Given the description of an element on the screen output the (x, y) to click on. 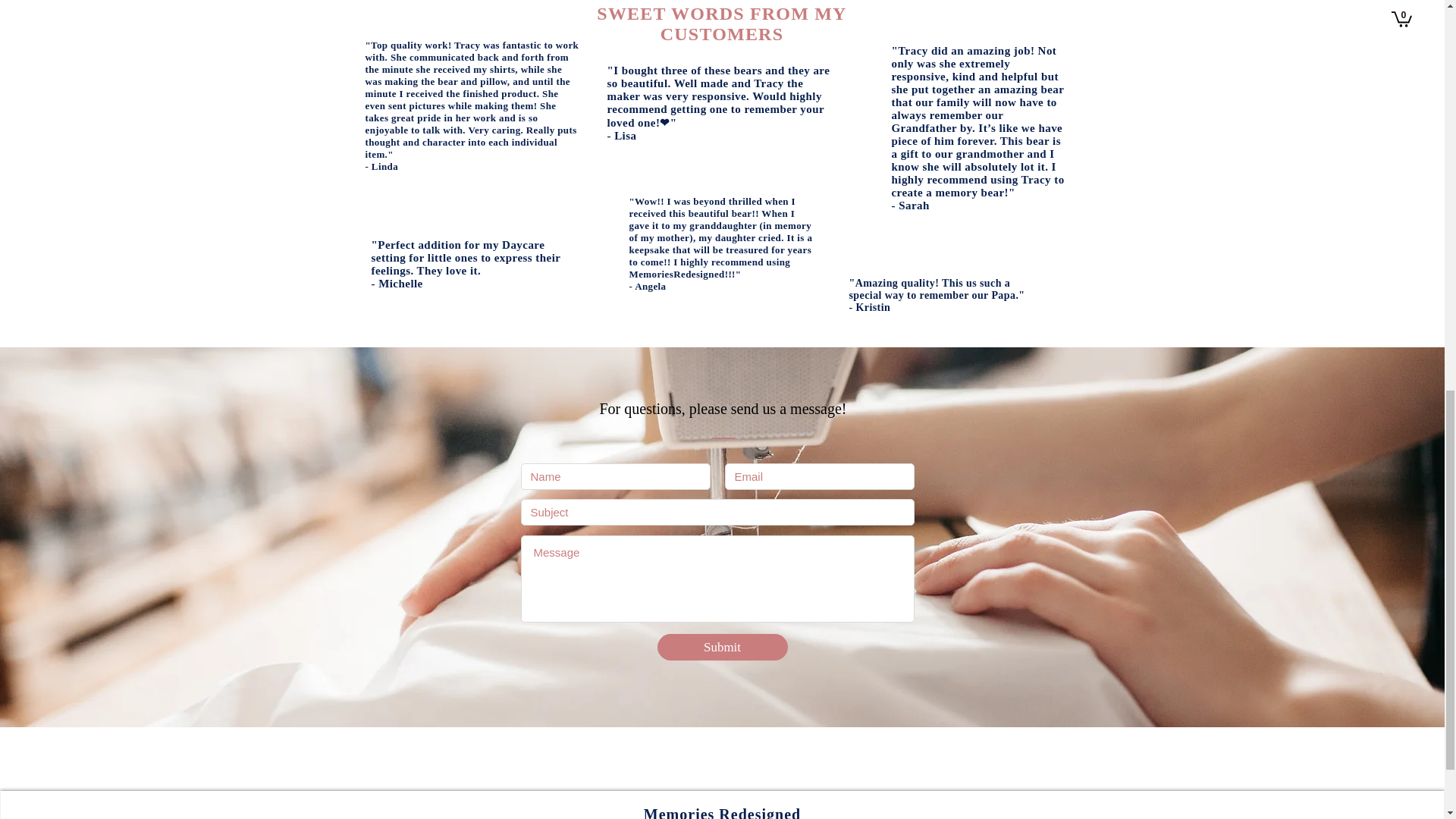
Submit (721, 646)
